Given the description of an element on the screen output the (x, y) to click on. 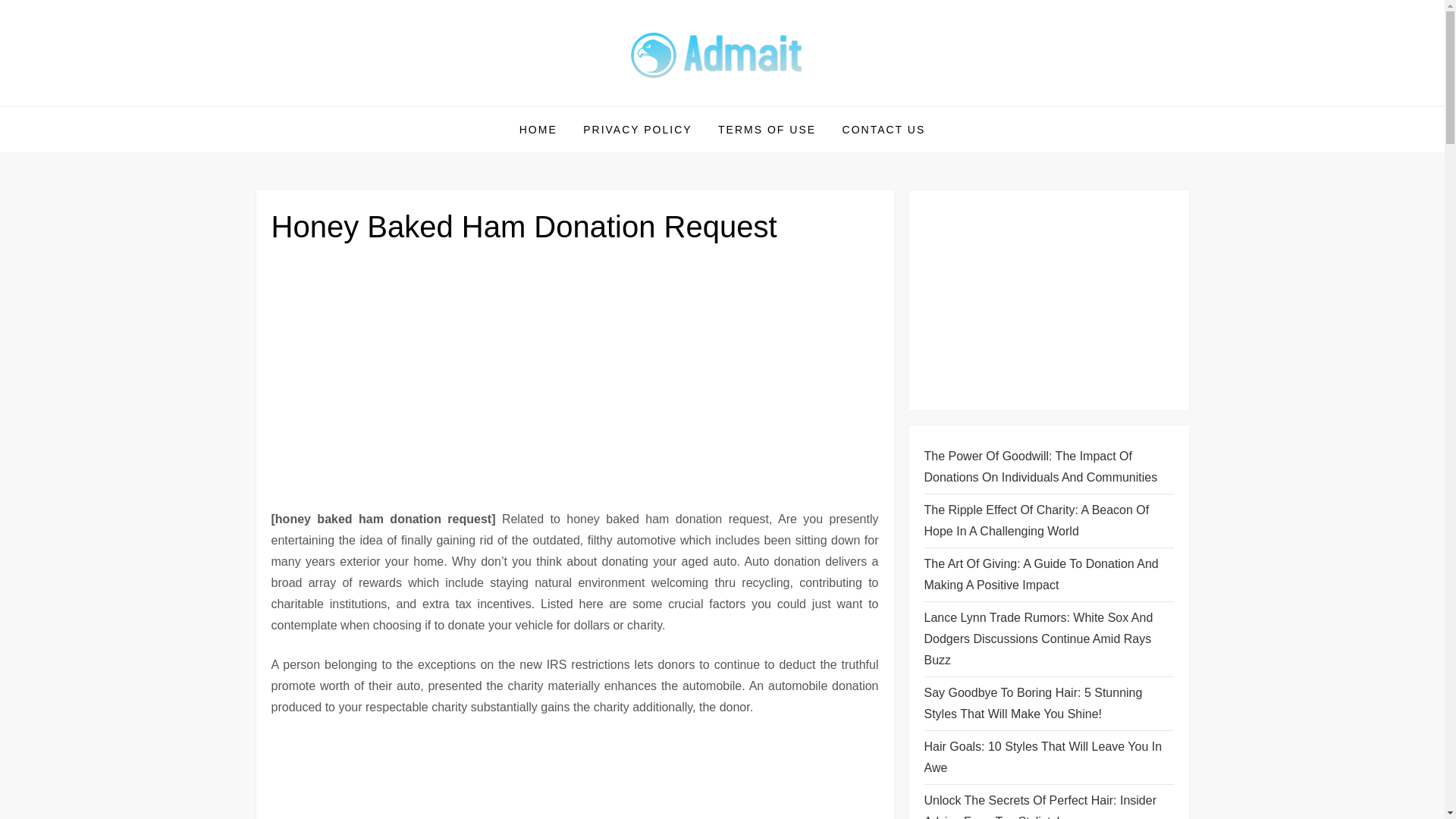
Advertisement (574, 777)
Advertisement (1048, 299)
HOME (538, 129)
Advertisement (574, 375)
CONTACT US (884, 129)
Admait (303, 105)
